Given the description of an element on the screen output the (x, y) to click on. 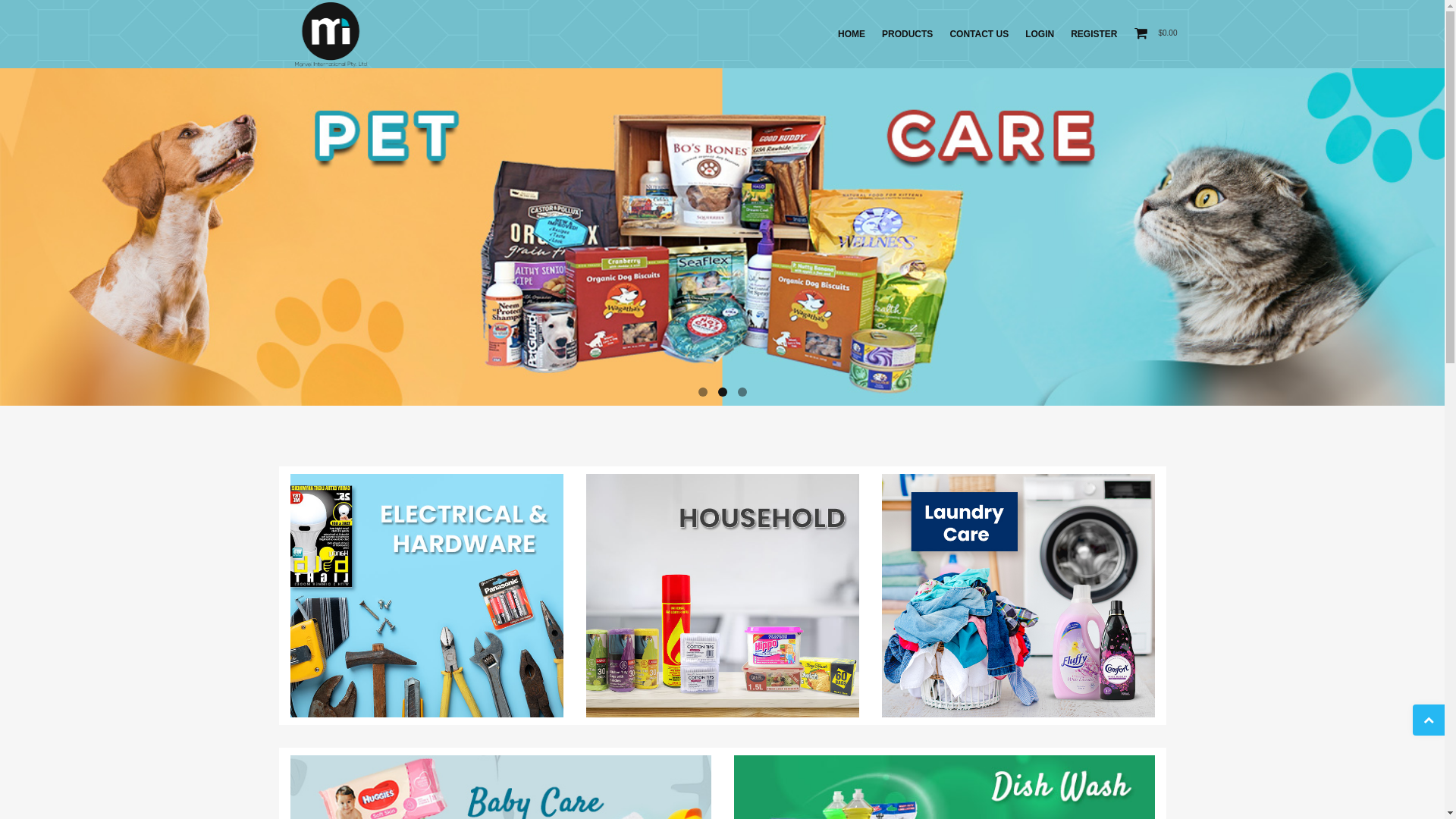
LOGIN Element type: text (1039, 34)
REGISTER Element type: text (1093, 34)
CONTACT US Element type: text (978, 34)
HOME Element type: text (851, 34)
PRODUCTS Element type: text (907, 34)
